Given the description of an element on the screen output the (x, y) to click on. 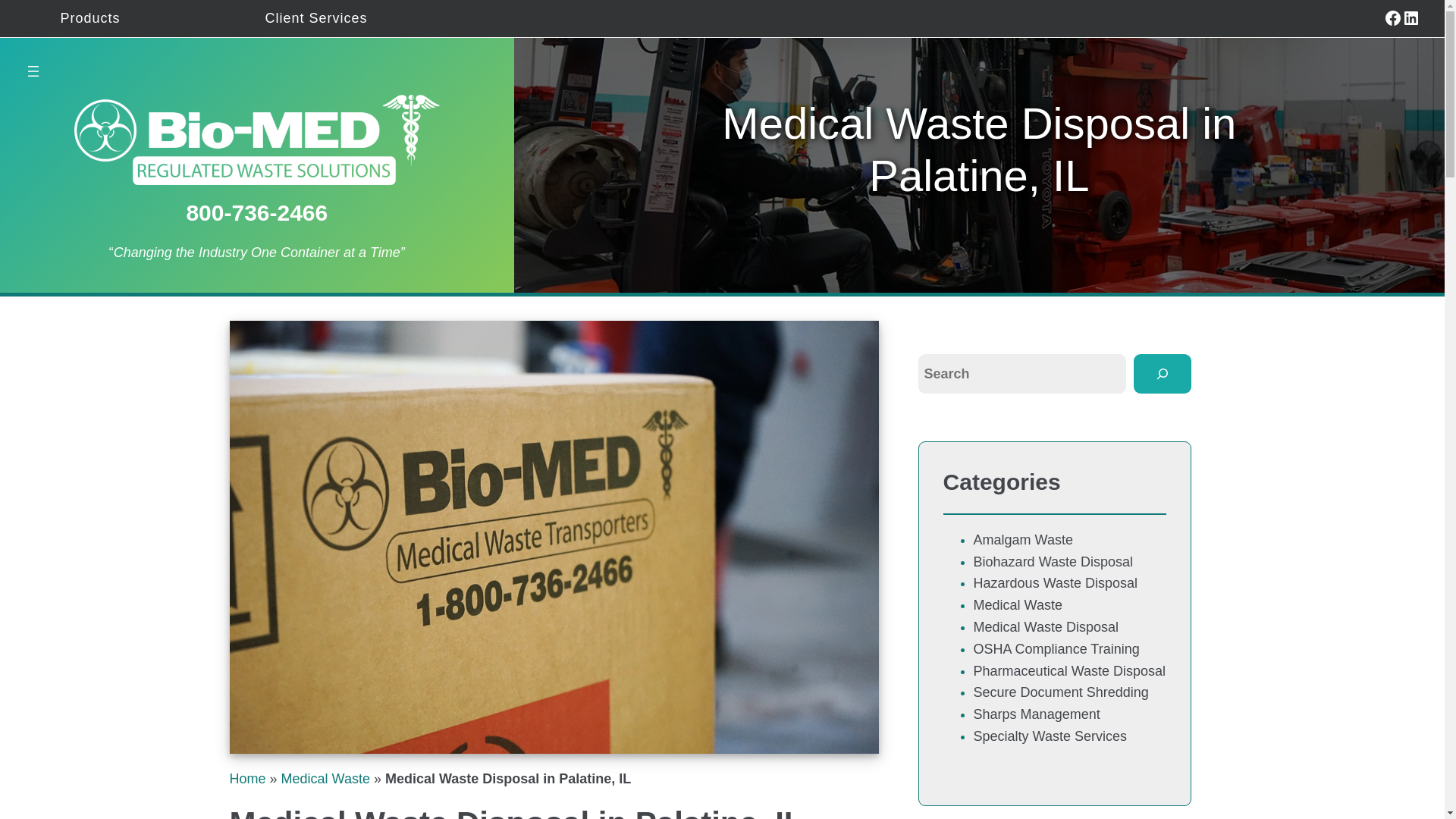
Facebook (1393, 18)
Client Services (315, 18)
Products (90, 18)
LinkedIn (1411, 18)
